Given the description of an element on the screen output the (x, y) to click on. 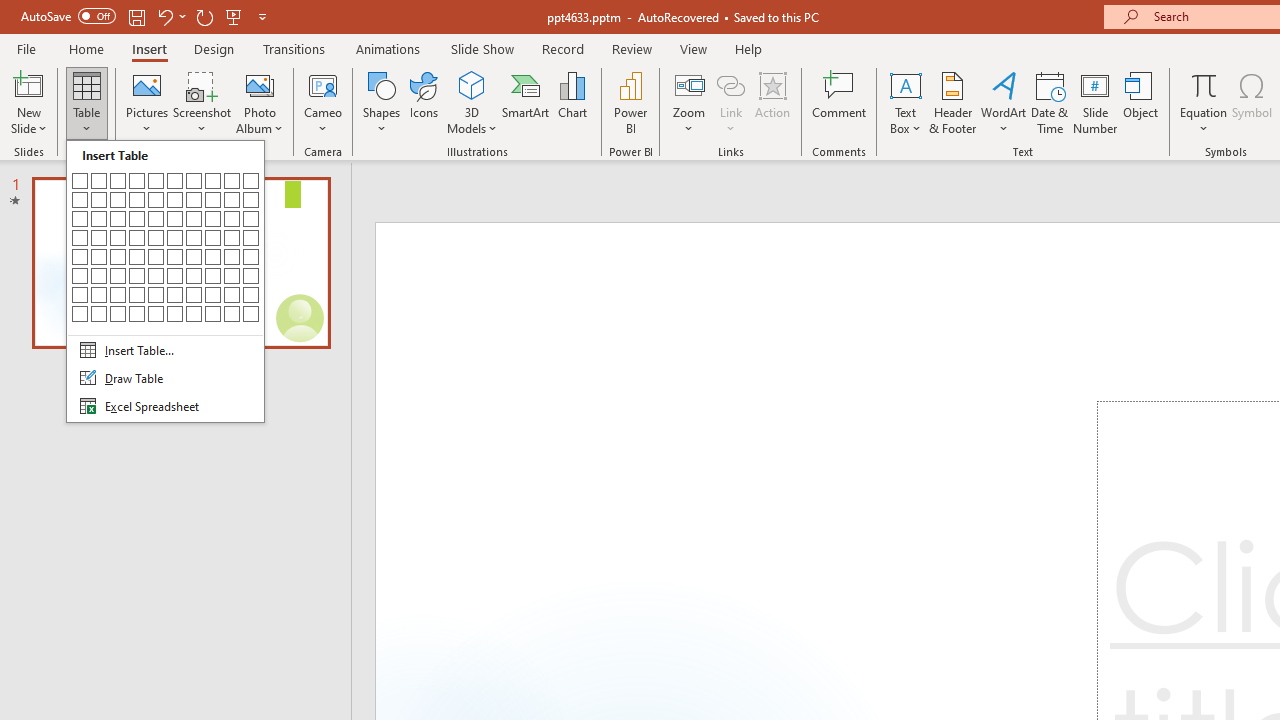
Table (86, 102)
Icons (424, 102)
WordArt (1004, 102)
